Given the description of an element on the screen output the (x, y) to click on. 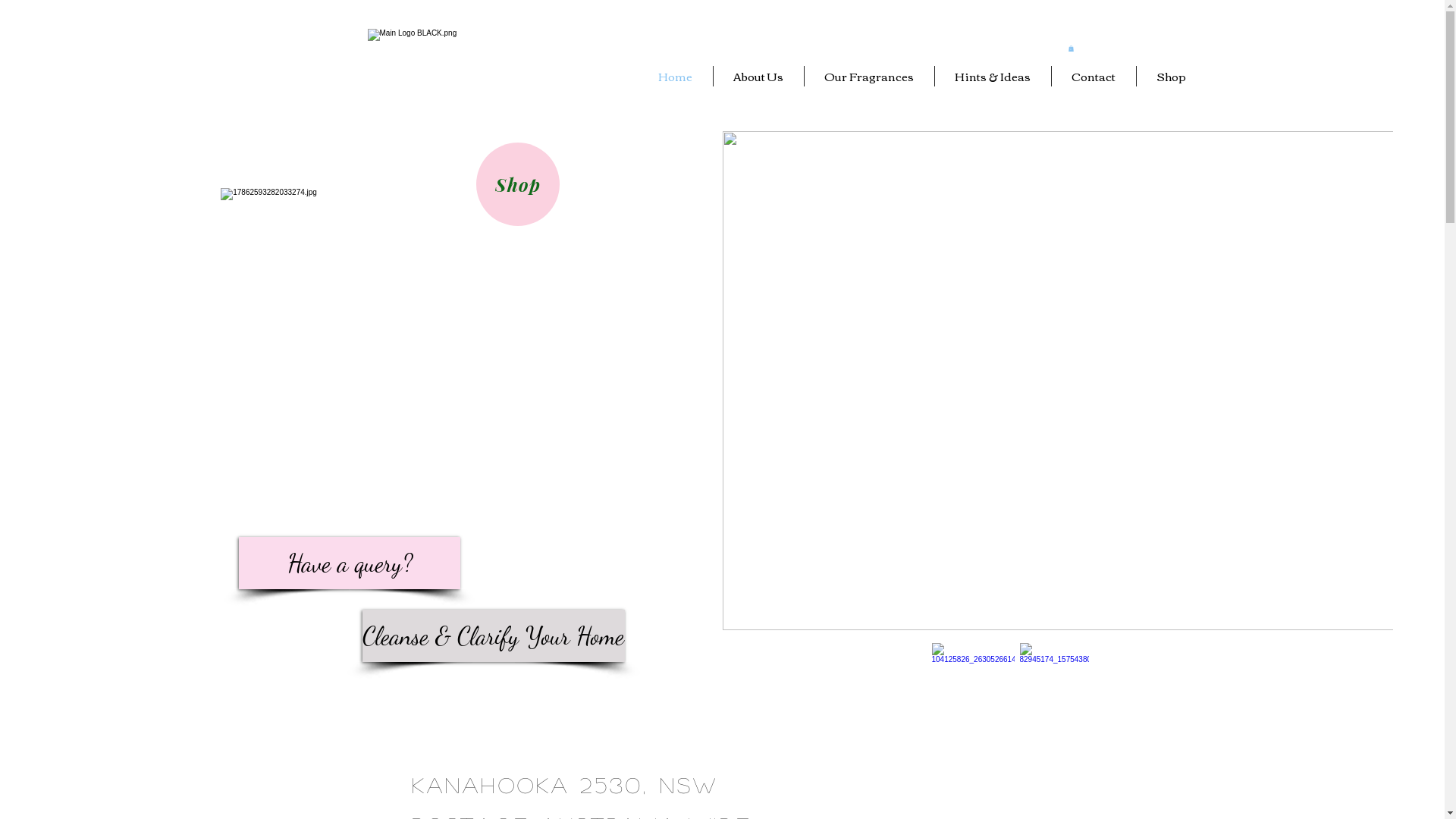
Cleanse & Clarify Your Home Element type: text (493, 635)
Home Element type: text (674, 75)
Our Fragrances Element type: text (868, 75)
0 Element type: text (1070, 48)
About Us Element type: text (757, 75)
Shop Element type: text (1170, 75)
Hints & Ideas Element type: text (992, 75)
Have a query? Element type: text (349, 562)
Shop Element type: text (517, 183)
Contact Element type: text (1093, 75)
